Given the description of an element on the screen output the (x, y) to click on. 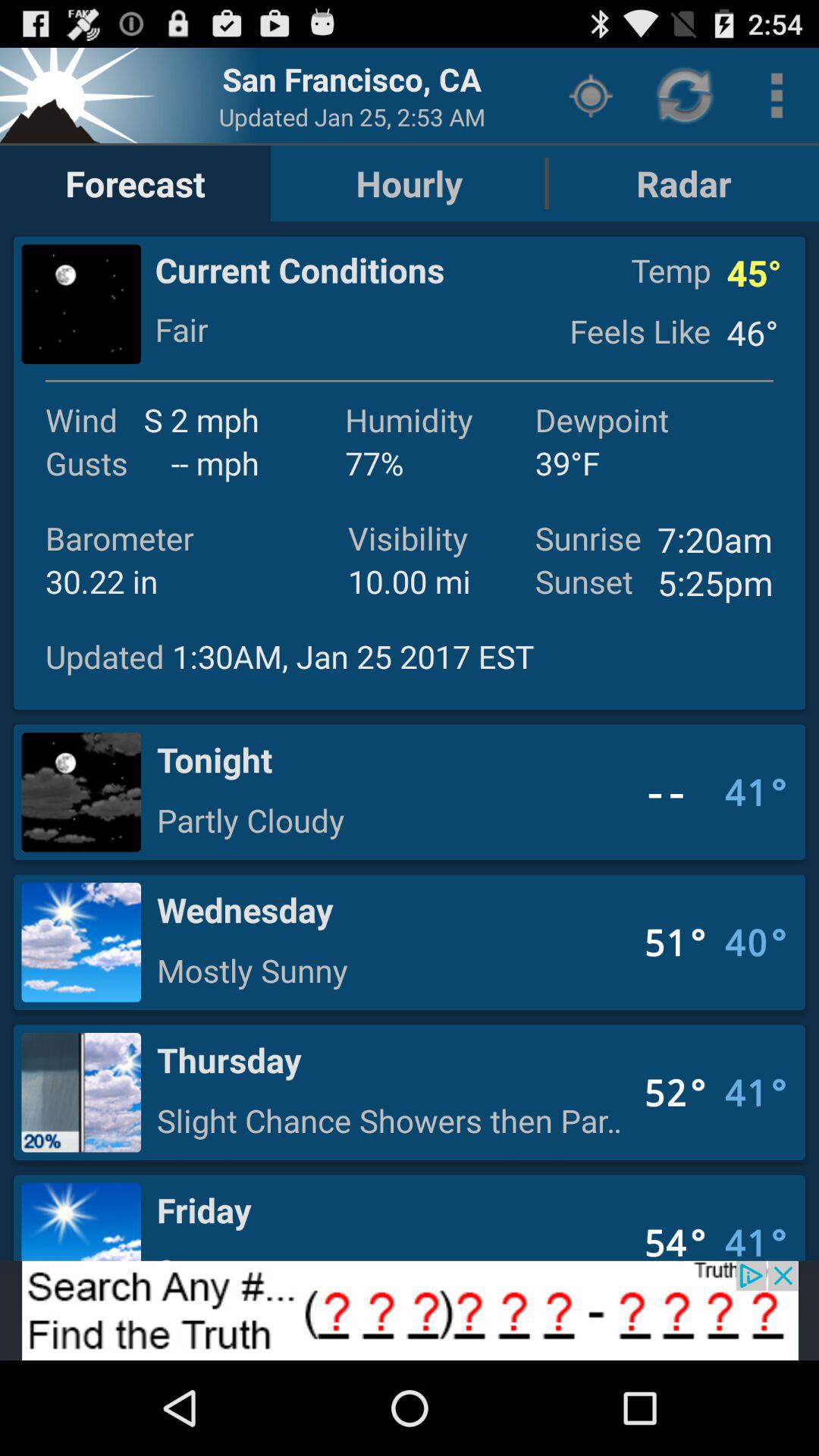
search button (409, 1310)
